Given the description of an element on the screen output the (x, y) to click on. 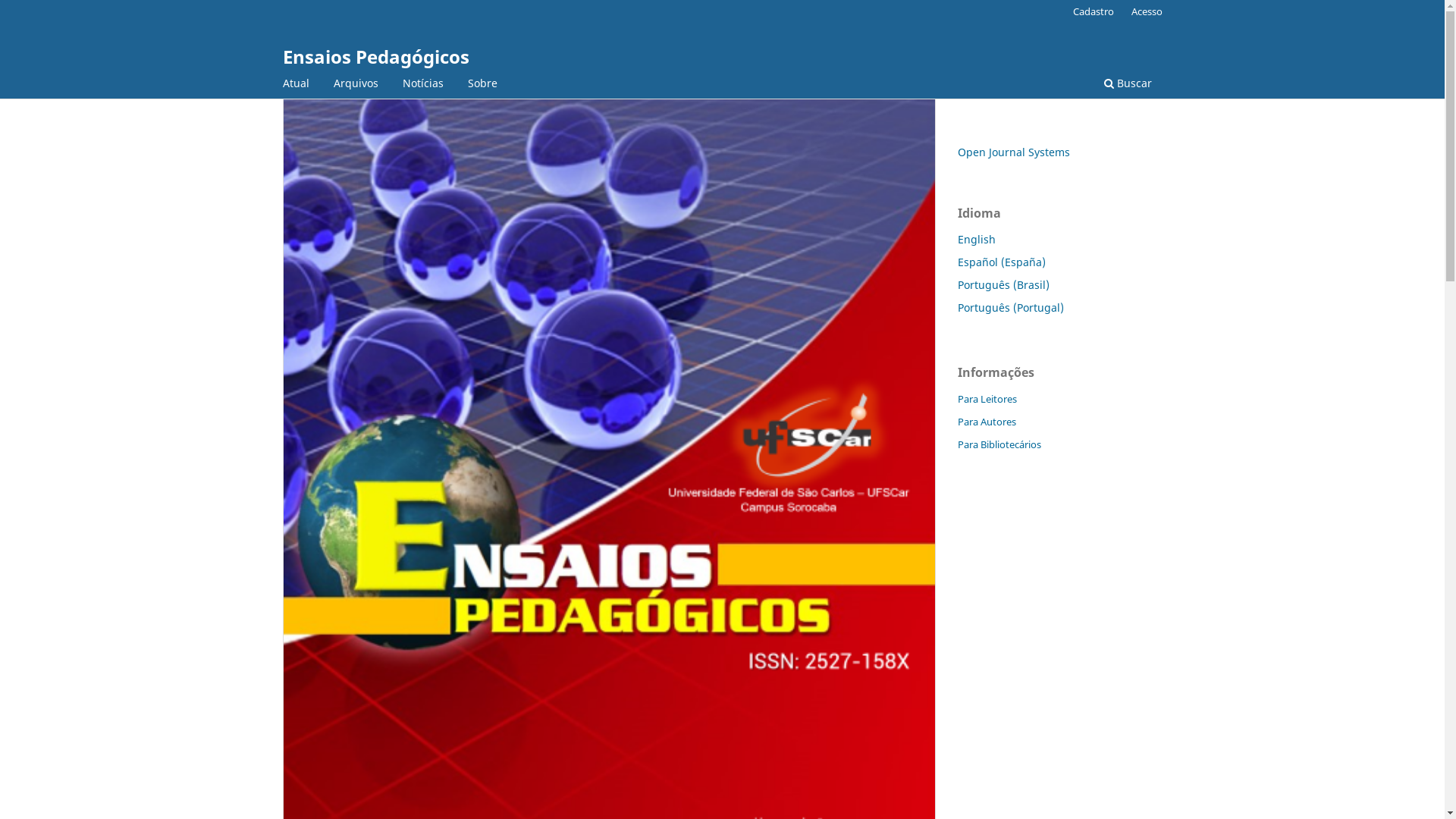
Arquivos Element type: text (354, 85)
Para Leitores Element type: text (986, 398)
Acesso Element type: text (1146, 11)
Buscar Element type: text (1127, 85)
Para Autores Element type: text (986, 421)
Cadastro Element type: text (1093, 11)
English Element type: text (975, 239)
Open Journal Systems Element type: text (1013, 151)
Atual Element type: text (295, 85)
Sobre Element type: text (482, 85)
